Given the description of an element on the screen output the (x, y) to click on. 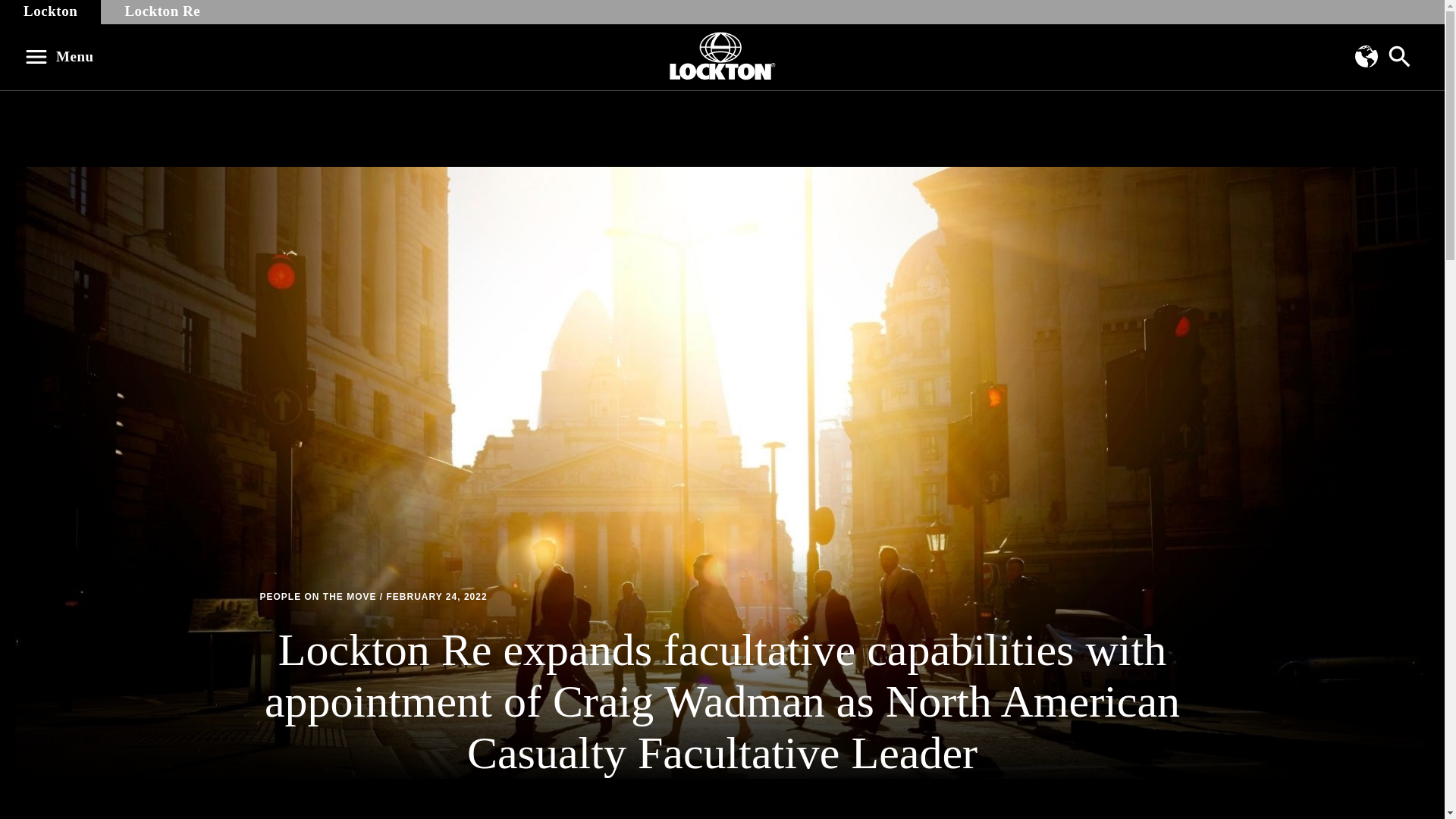
Menu (63, 56)
Skip to main content (19, 8)
